Given the description of an element on the screen output the (x, y) to click on. 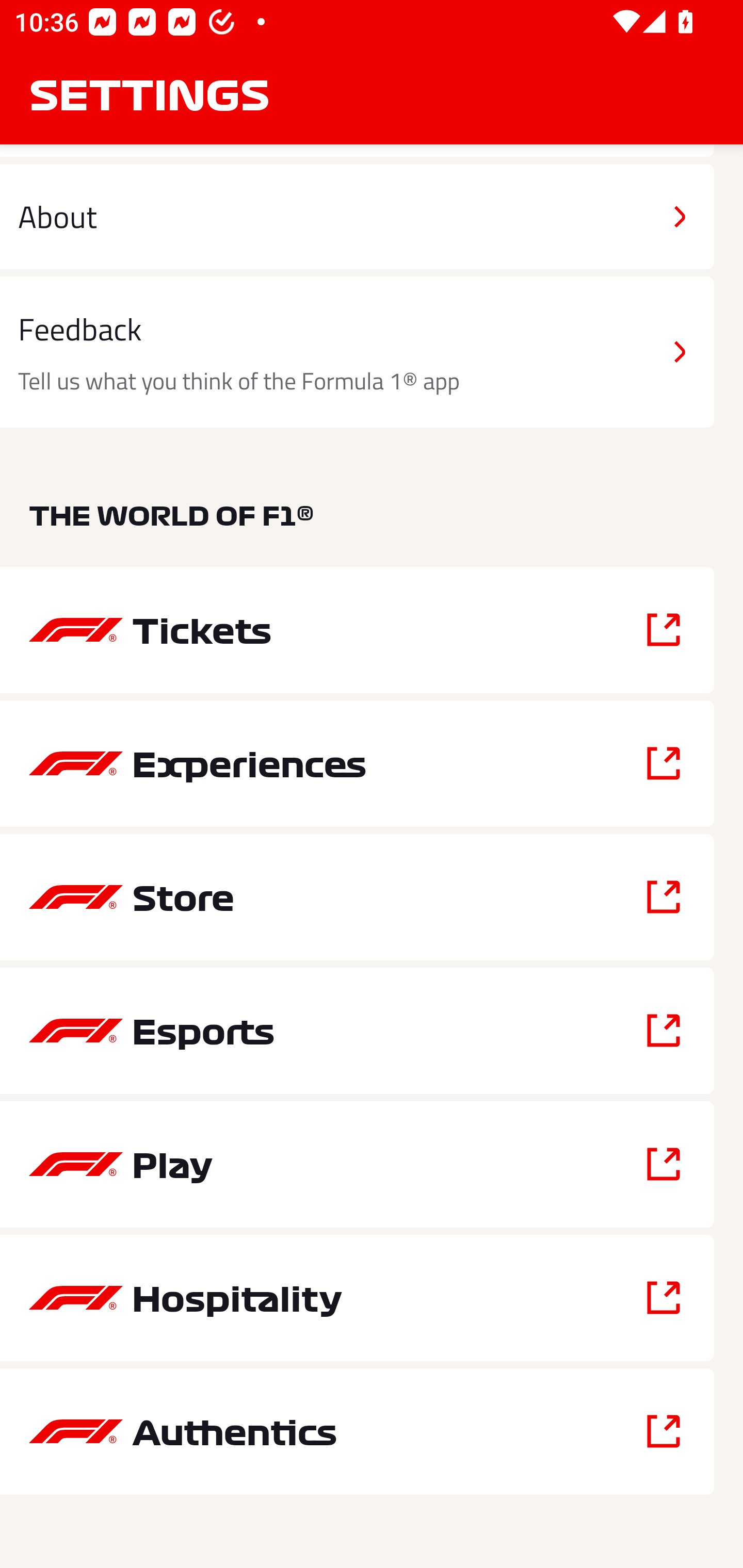
About (357, 216)
Tickets (357, 630)
Experiences (357, 763)
Store (357, 896)
Esports (357, 1030)
Play (357, 1163)
Hospitality (357, 1298)
Authentics (357, 1431)
